Given the description of an element on the screen output the (x, y) to click on. 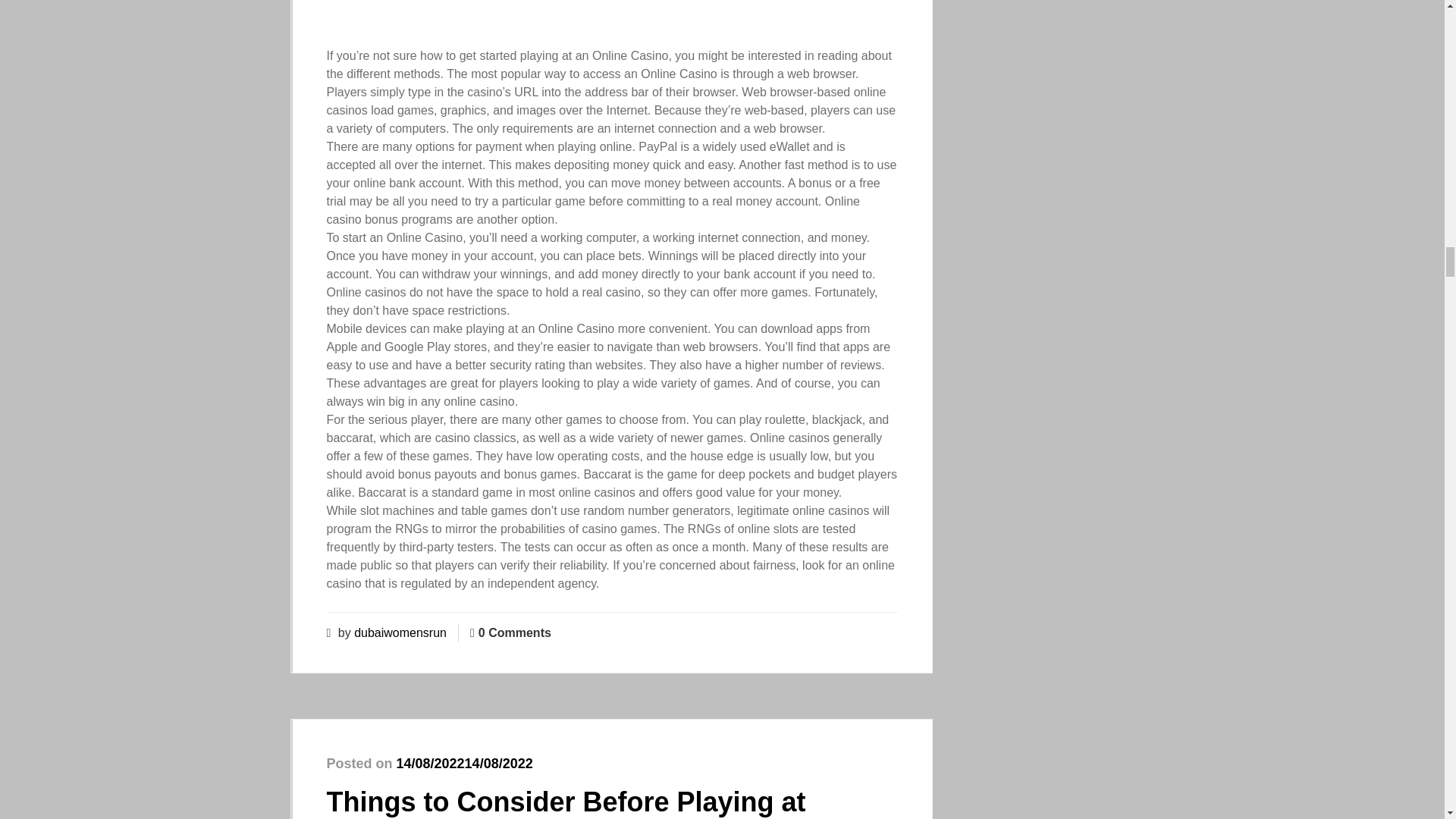
Things to Consider Before Playing at Casino Online (565, 802)
dubaiwomensrun (399, 632)
